Given the description of an element on the screen output the (x, y) to click on. 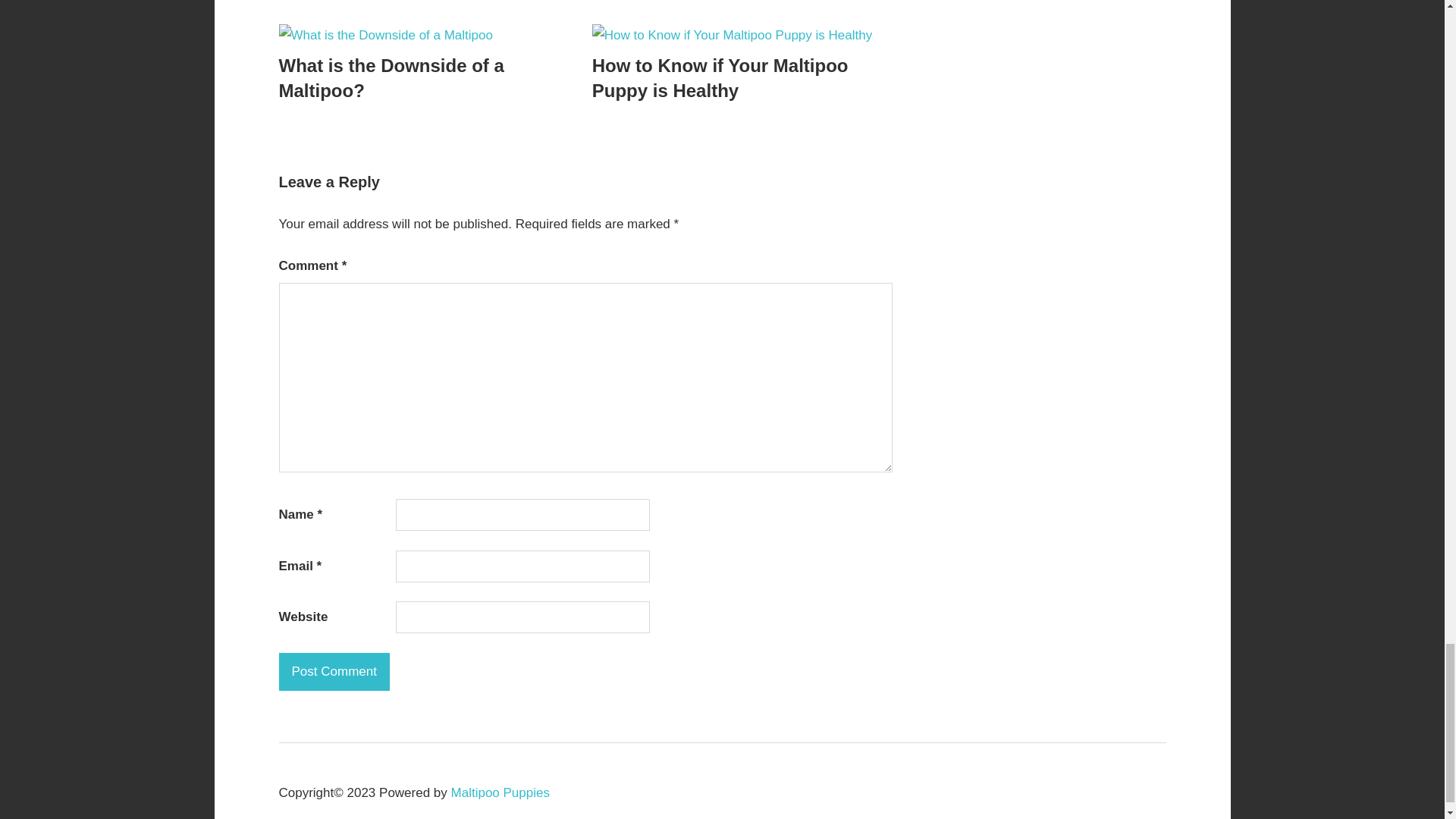
Post Comment (334, 671)
